Given the description of an element on the screen output the (x, y) to click on. 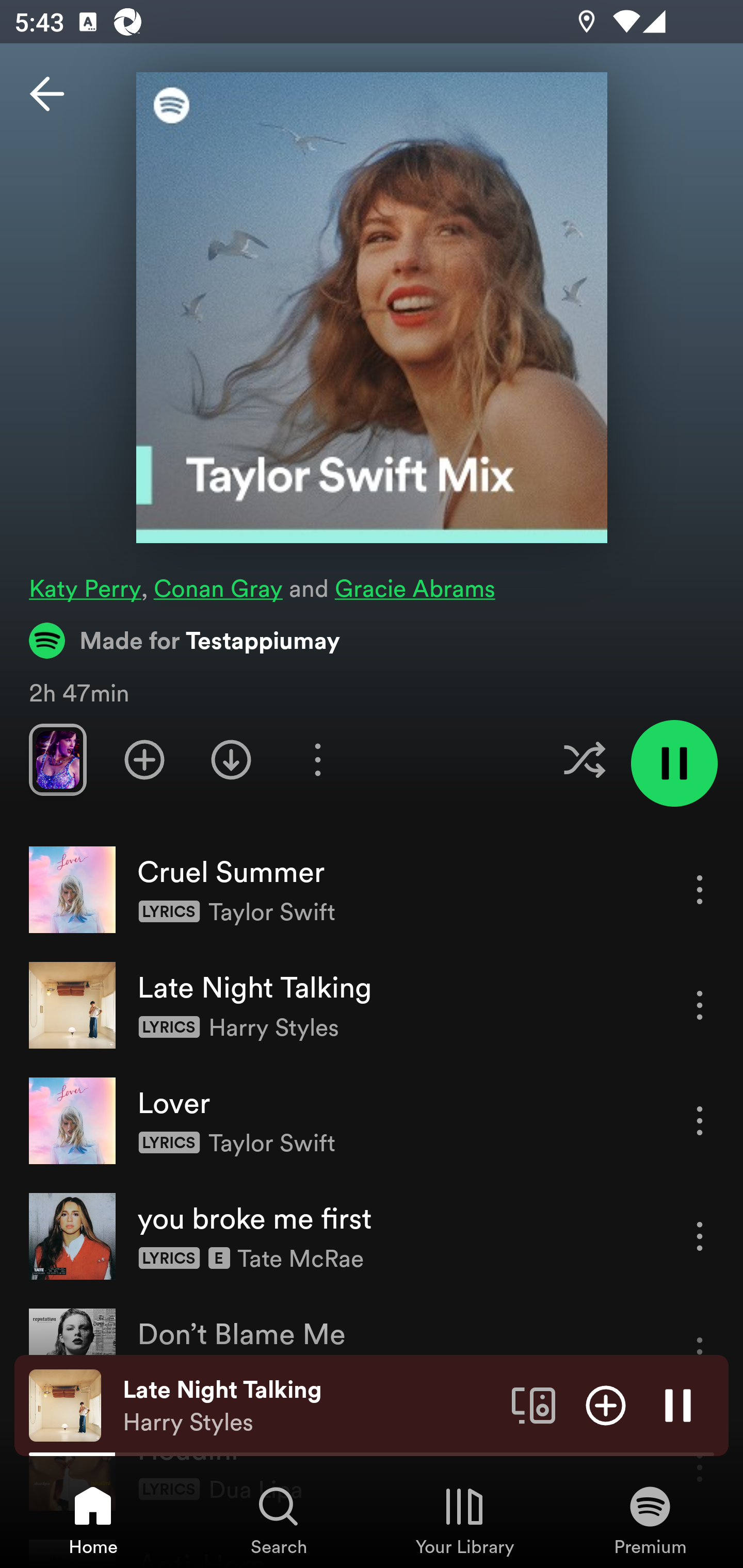
Back (46, 93)
Made for Testappiumay (184, 640)
Add playlist to Your Library (144, 759)
Download (230, 759)
More options for playlist Taylor Swift Mix (317, 759)
Enable shuffle for this playlist (583, 759)
Pause playlist (674, 763)
More options for song Cruel Summer (699, 889)
More options for song Late Night Talking (699, 1004)
More options for song Lover (699, 1120)
More options for song you broke me first (699, 1236)
Late Night Talking Harry Styles (309, 1405)
The cover art of the currently playing track (64, 1404)
Connect to a device. Opens the devices menu (533, 1404)
Add item (605, 1404)
Pause (677, 1404)
Home, Tab 1 of 4 Home Home (92, 1519)
Search, Tab 2 of 4 Search Search (278, 1519)
Your Library, Tab 3 of 4 Your Library Your Library (464, 1519)
Premium, Tab 4 of 4 Premium Premium (650, 1519)
